Given the description of an element on the screen output the (x, y) to click on. 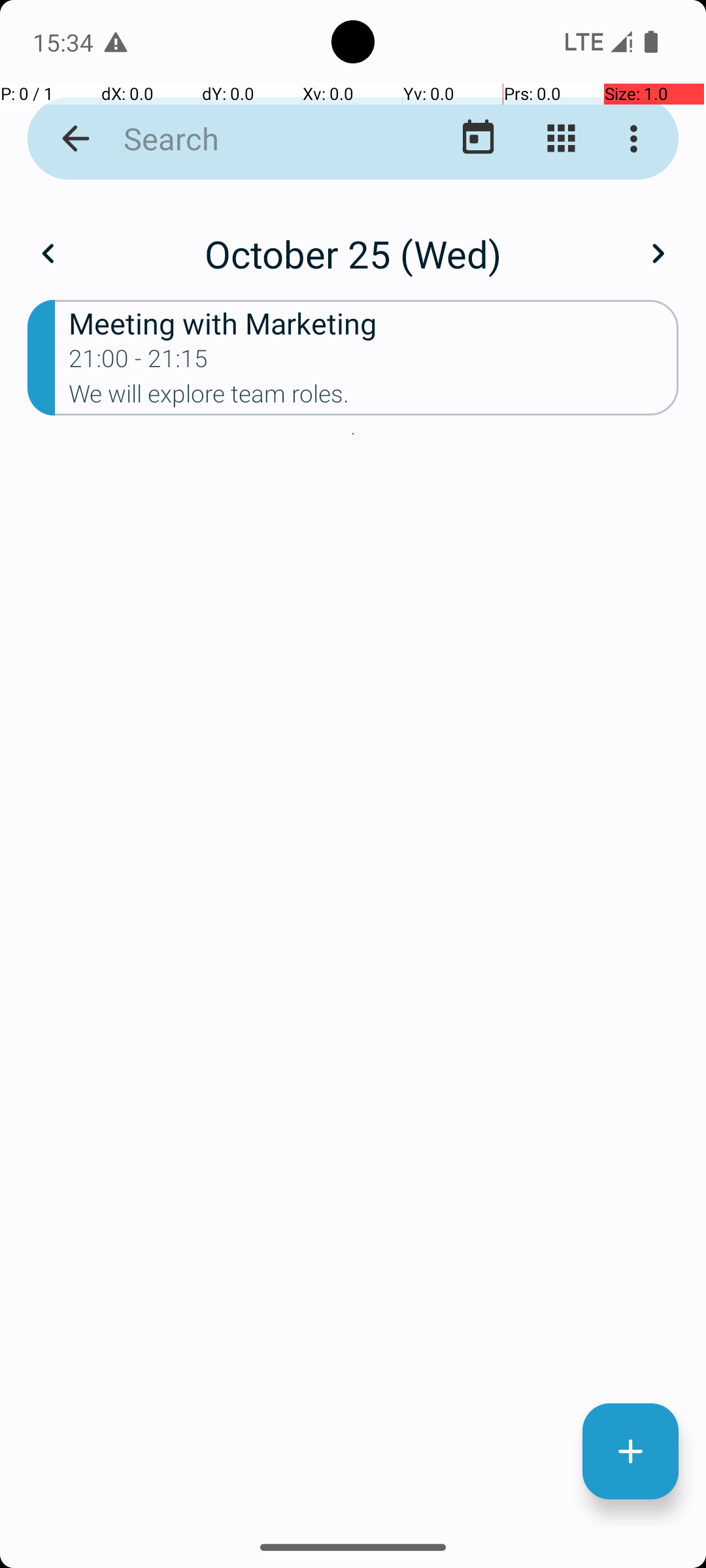
October 25 (Wed) Element type: android.widget.TextView (352, 253)
Meeting with Marketing Element type: android.widget.TextView (373, 321)
21:00 - 21:15 Element type: android.widget.TextView (137, 362)
We will explore team roles. Element type: android.widget.TextView (373, 397)
